Given the description of an element on the screen output the (x, y) to click on. 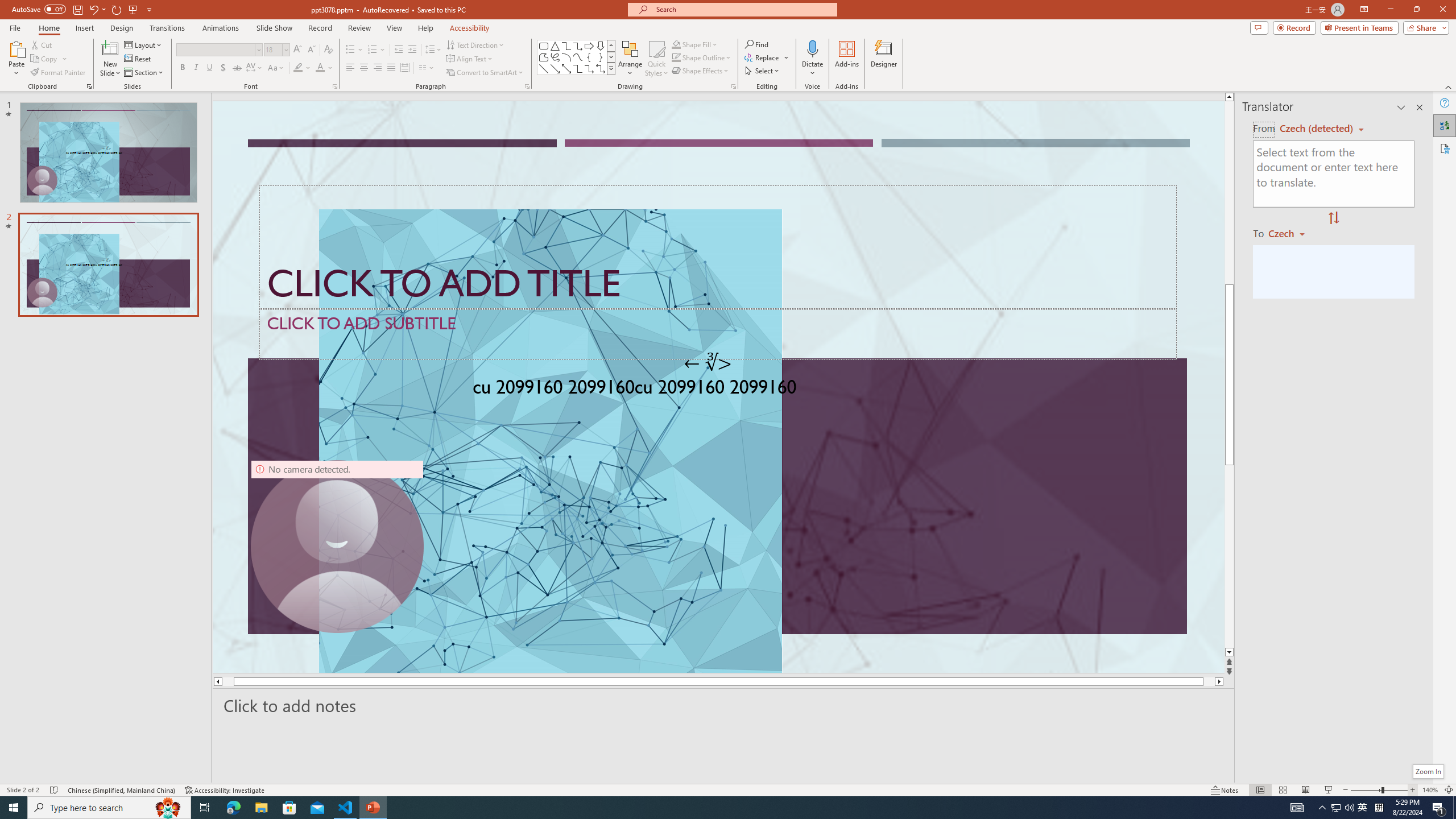
Czech (detected) (1317, 128)
